Given the description of an element on the screen output the (x, y) to click on. 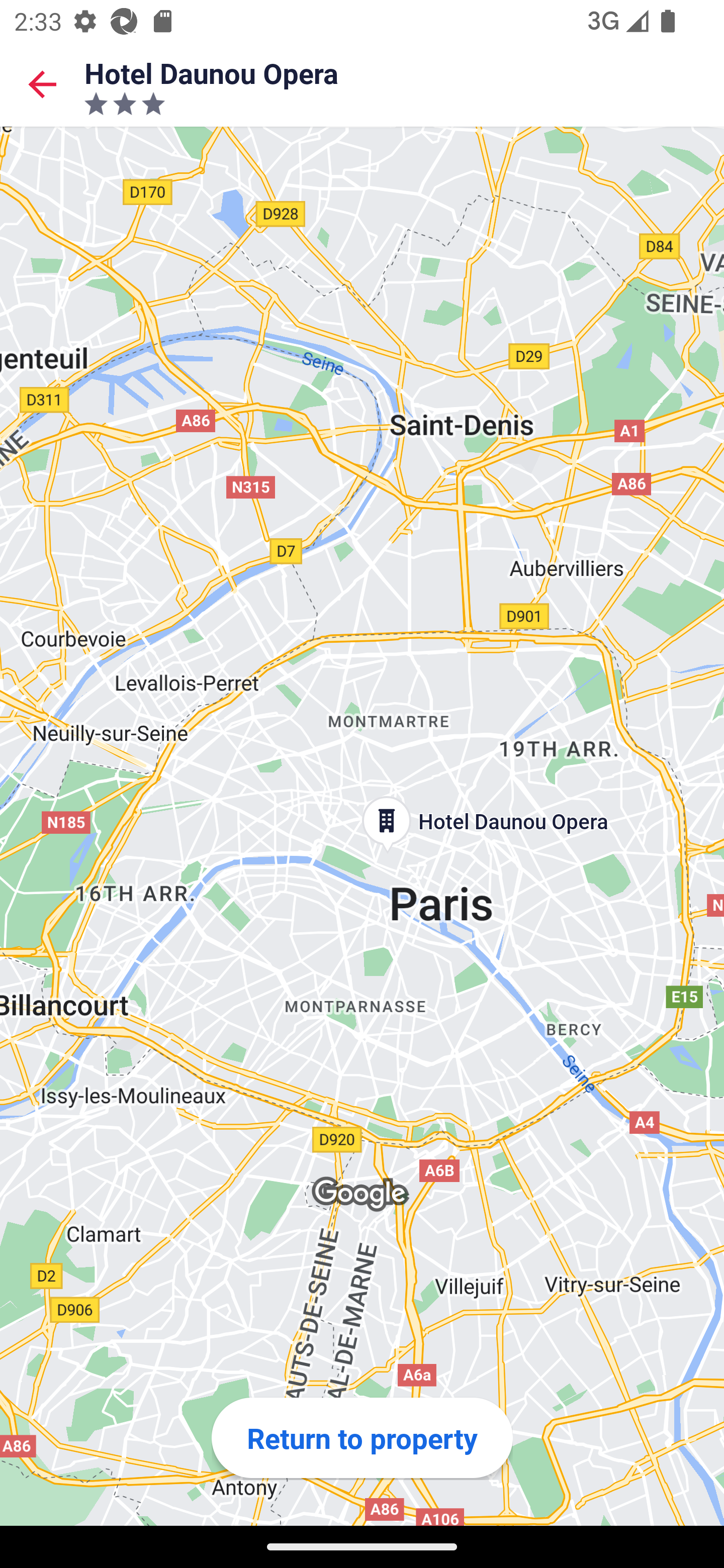
Back (41, 83)
Return to property (361, 1437)
